Given the description of an element on the screen output the (x, y) to click on. 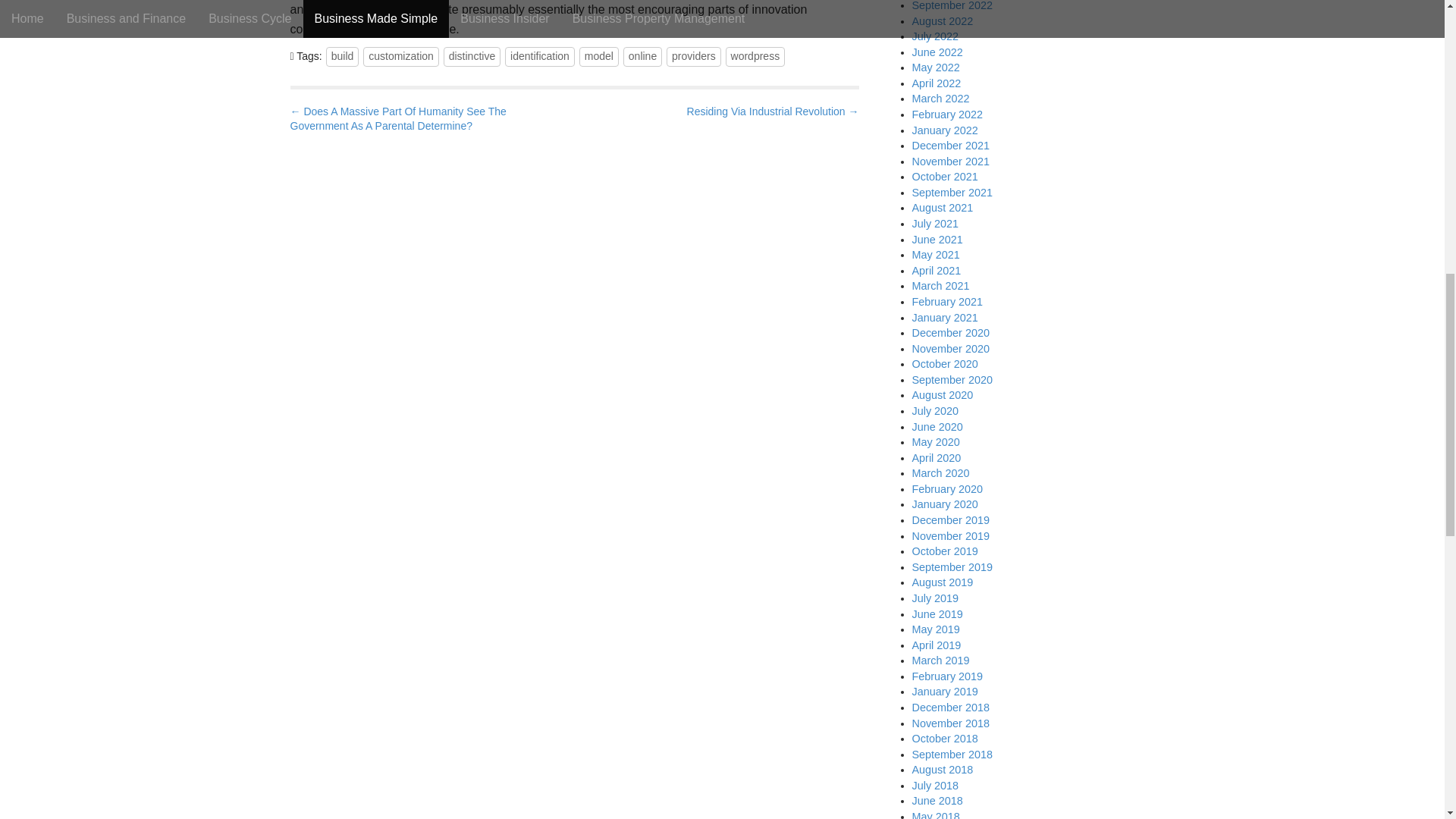
online (642, 56)
identification (540, 56)
model (598, 56)
build (342, 56)
distinctive (472, 56)
customization (400, 56)
providers (693, 56)
wordpress (755, 56)
